Given the description of an element on the screen output the (x, y) to click on. 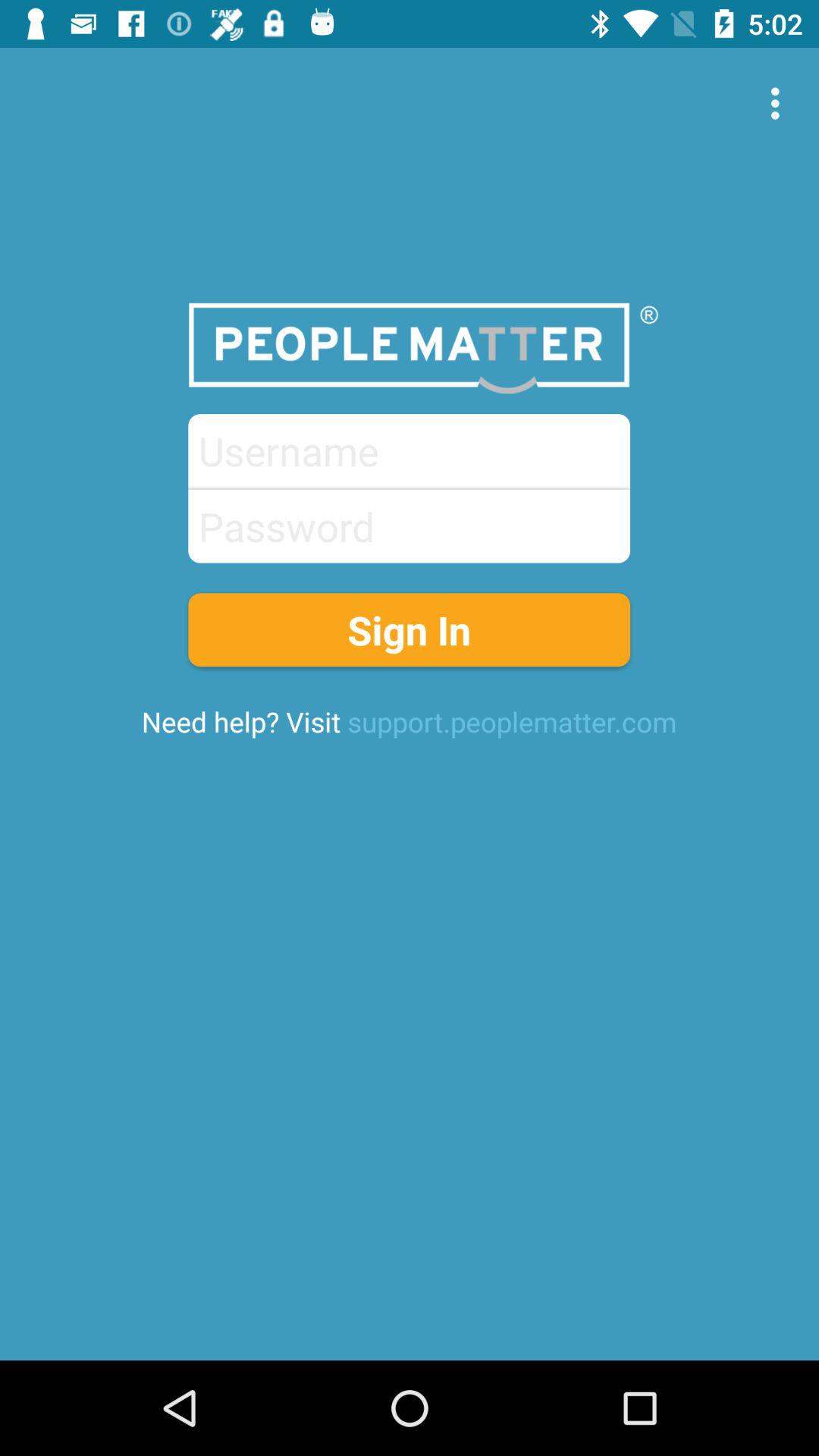
click the icon above need help visit icon (409, 629)
